Given the description of an element on the screen output the (x, y) to click on. 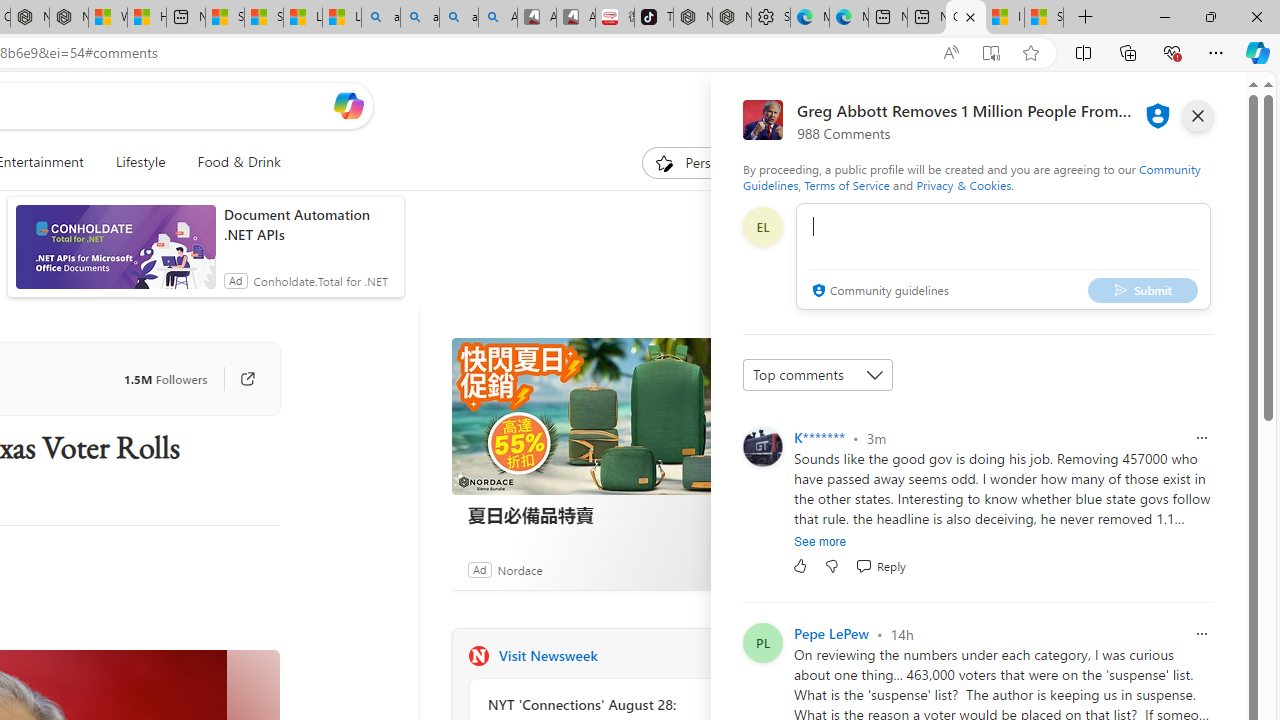
Submit (1143, 290)
Conholdate.Total for .NET (320, 280)
Lifestyle (140, 162)
Newsweek (478, 655)
Reply Reply Comment (880, 565)
Food & Drink (230, 162)
